Given the description of an element on the screen output the (x, y) to click on. 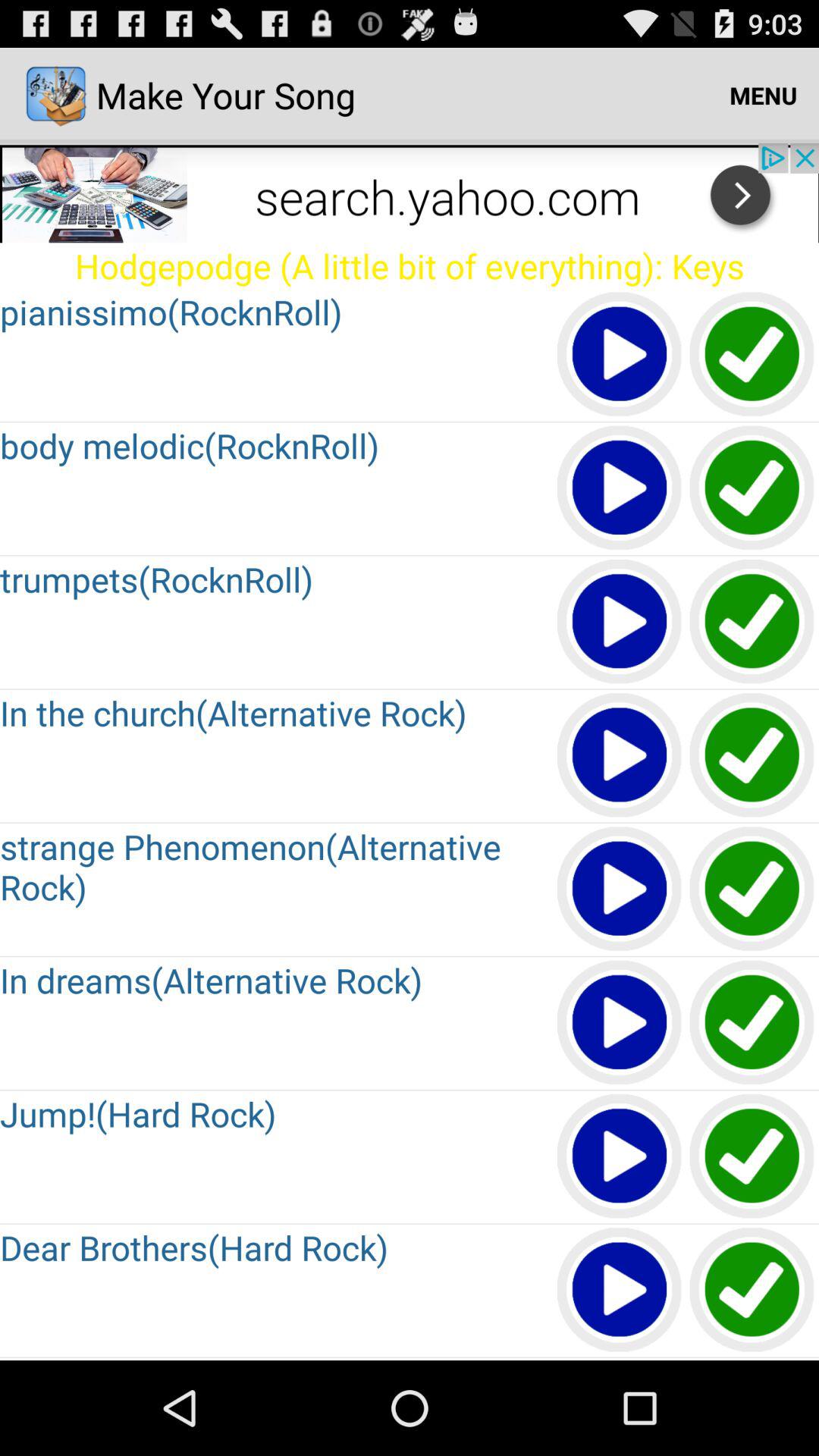
select the play button (619, 488)
